Given the description of an element on the screen output the (x, y) to click on. 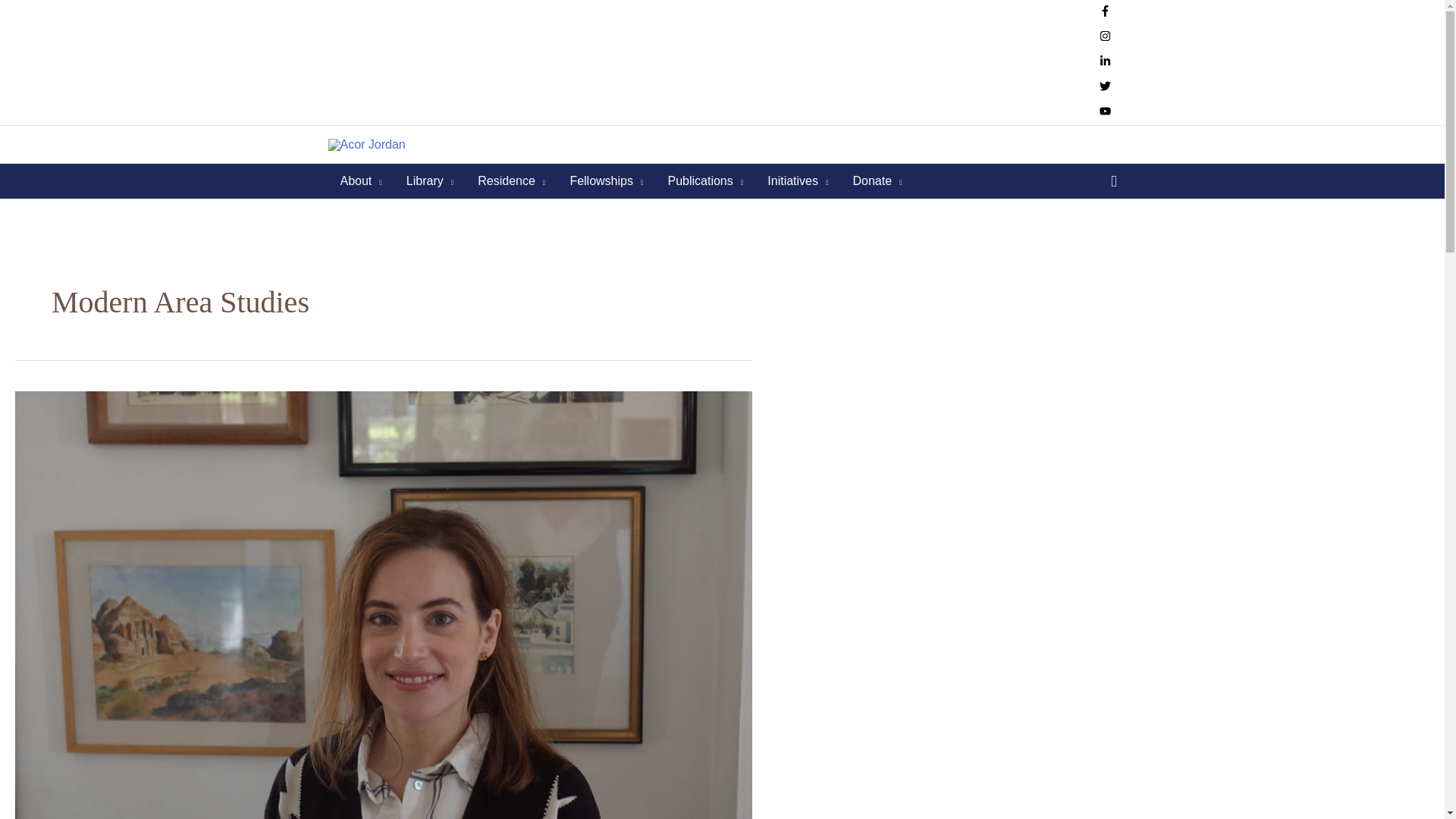
HOME (348, 62)
MAILING LIST (458, 62)
CONTACT US (547, 62)
RSS (391, 62)
FAQ (613, 62)
